Given the description of an element on the screen output the (x, y) to click on. 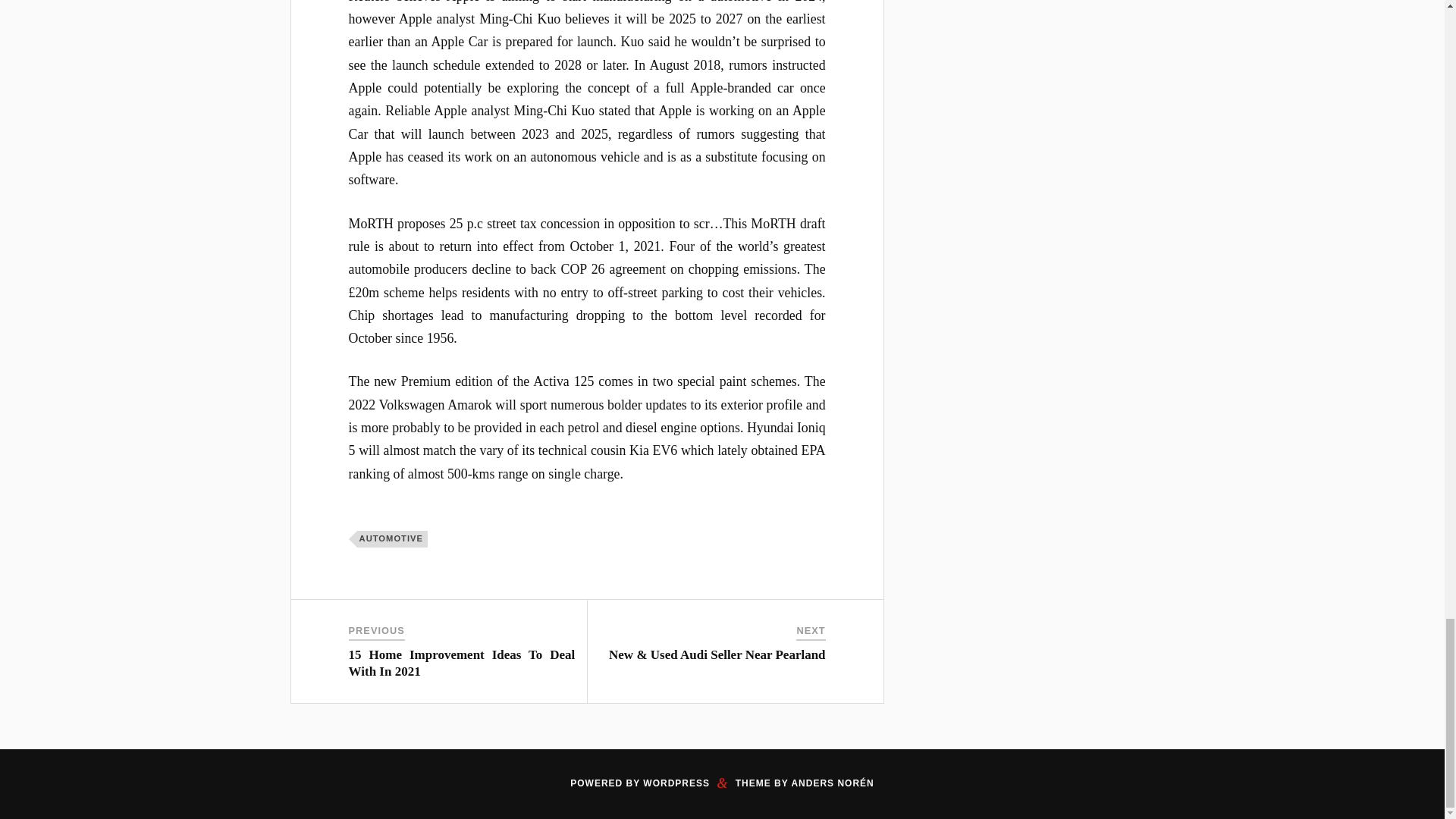
15 Home Improvement Ideas To Deal With In 2021 (462, 662)
AUTOMOTIVE (392, 538)
